Given the description of an element on the screen output the (x, y) to click on. 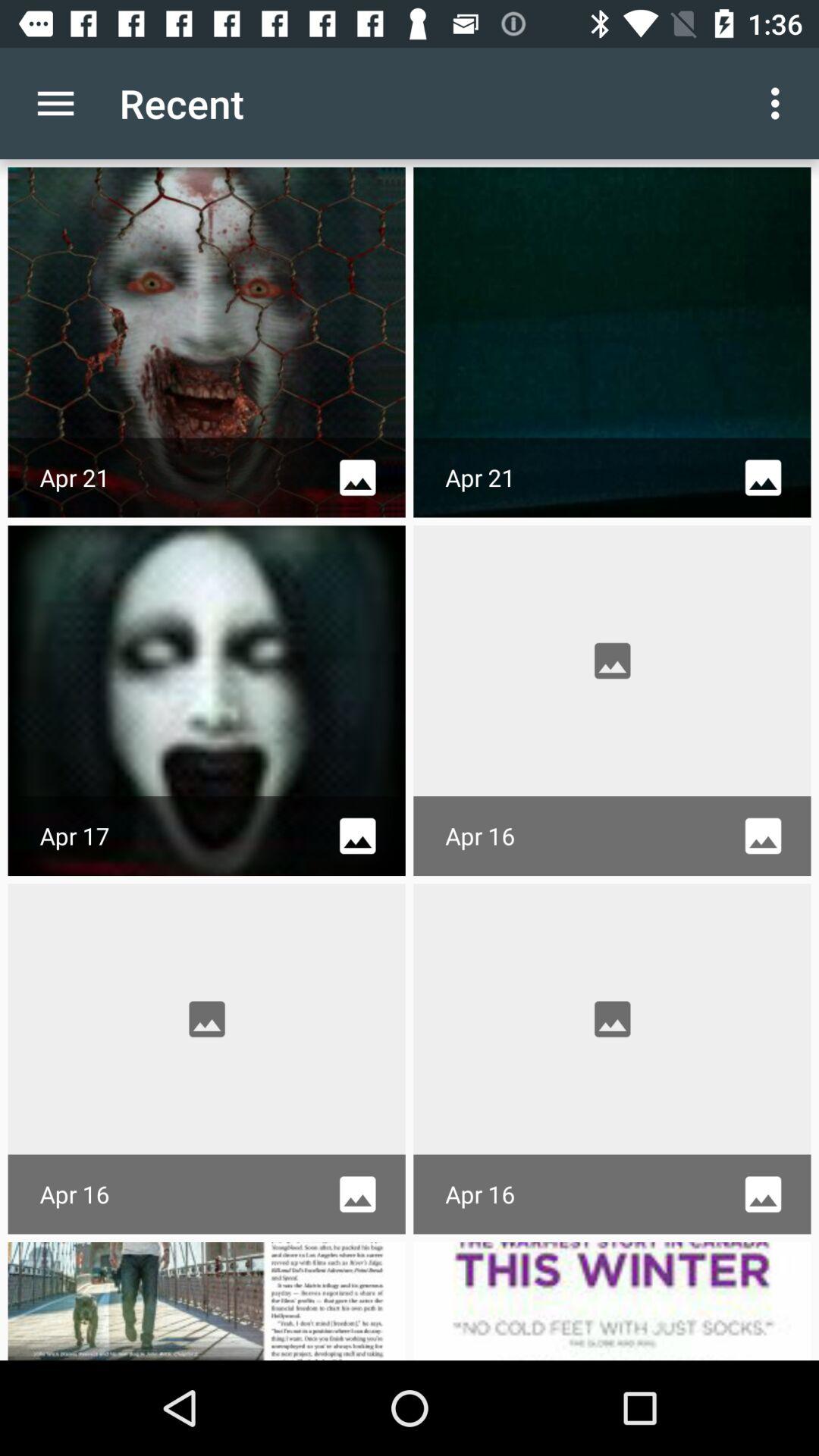
select the app next to the recent app (779, 103)
